Given the description of an element on the screen output the (x, y) to click on. 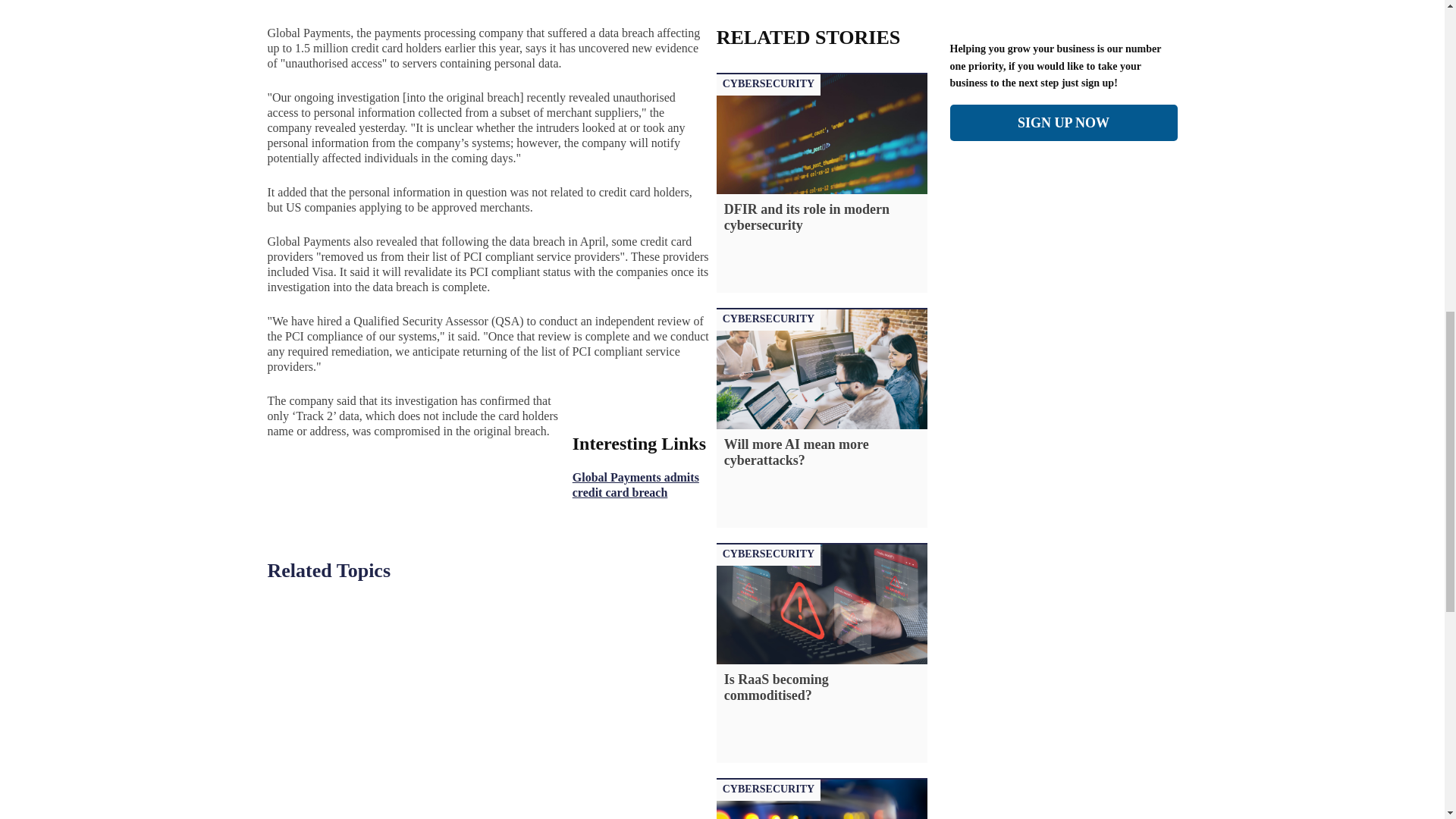
3rd party ad content (1249, 5)
3rd party ad content (1062, 5)
3rd party ad content (1062, 323)
3rd party ad content (195, 5)
